Given the description of an element on the screen output the (x, y) to click on. 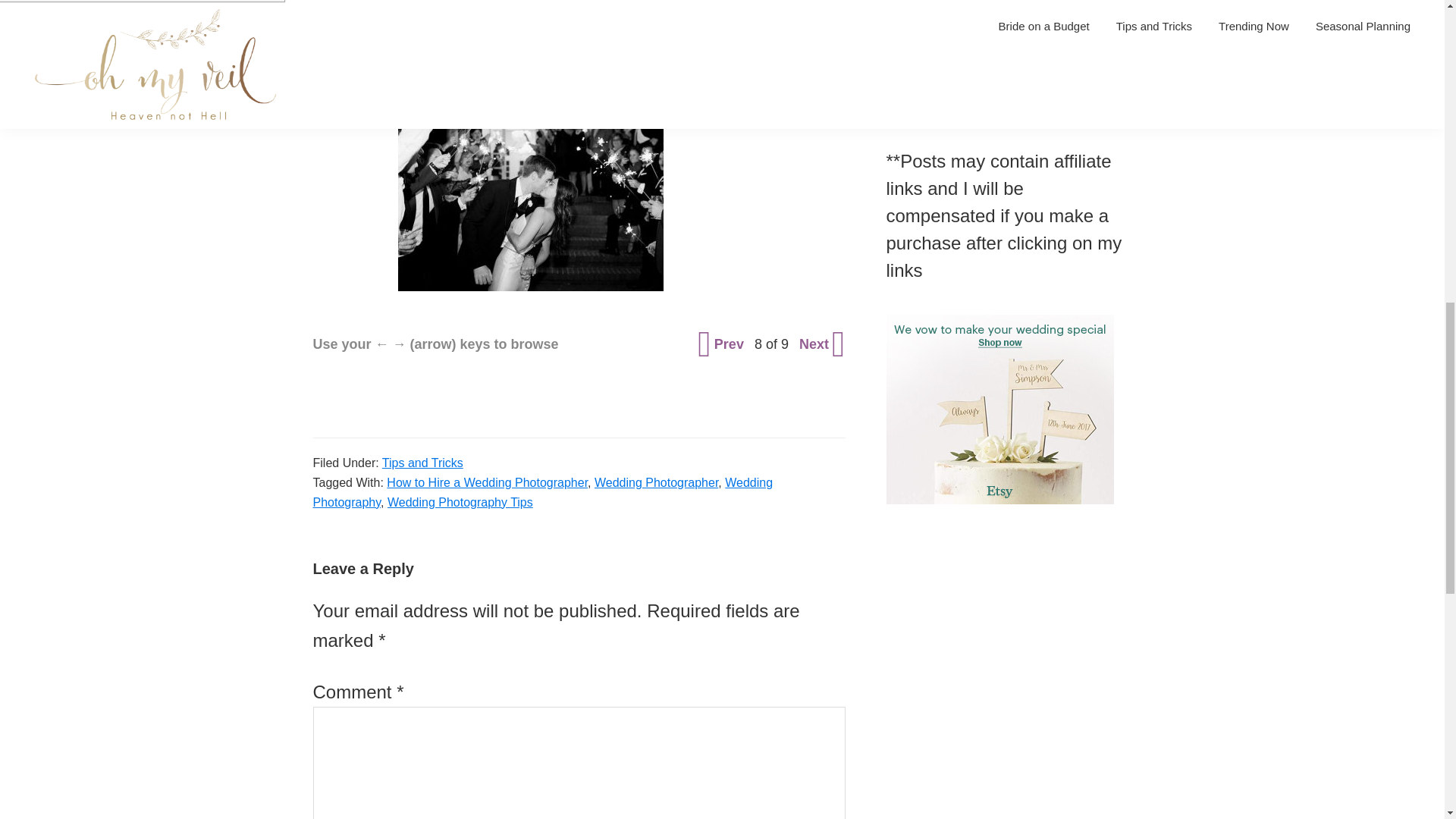
Next (820, 343)
Wedding Photographer (655, 481)
10 Ideas for the Best Engagement Party Ever (1007, 107)
How to Hire a Wedding Photographer (487, 481)
Wedding Photography (543, 491)
Wedding Photography Tips (459, 502)
Prev (721, 343)
The Ultimate Pre Wedding Workout Routine (1003, 82)
Tips and Tricks (422, 462)
